Given the description of an element on the screen output the (x, y) to click on. 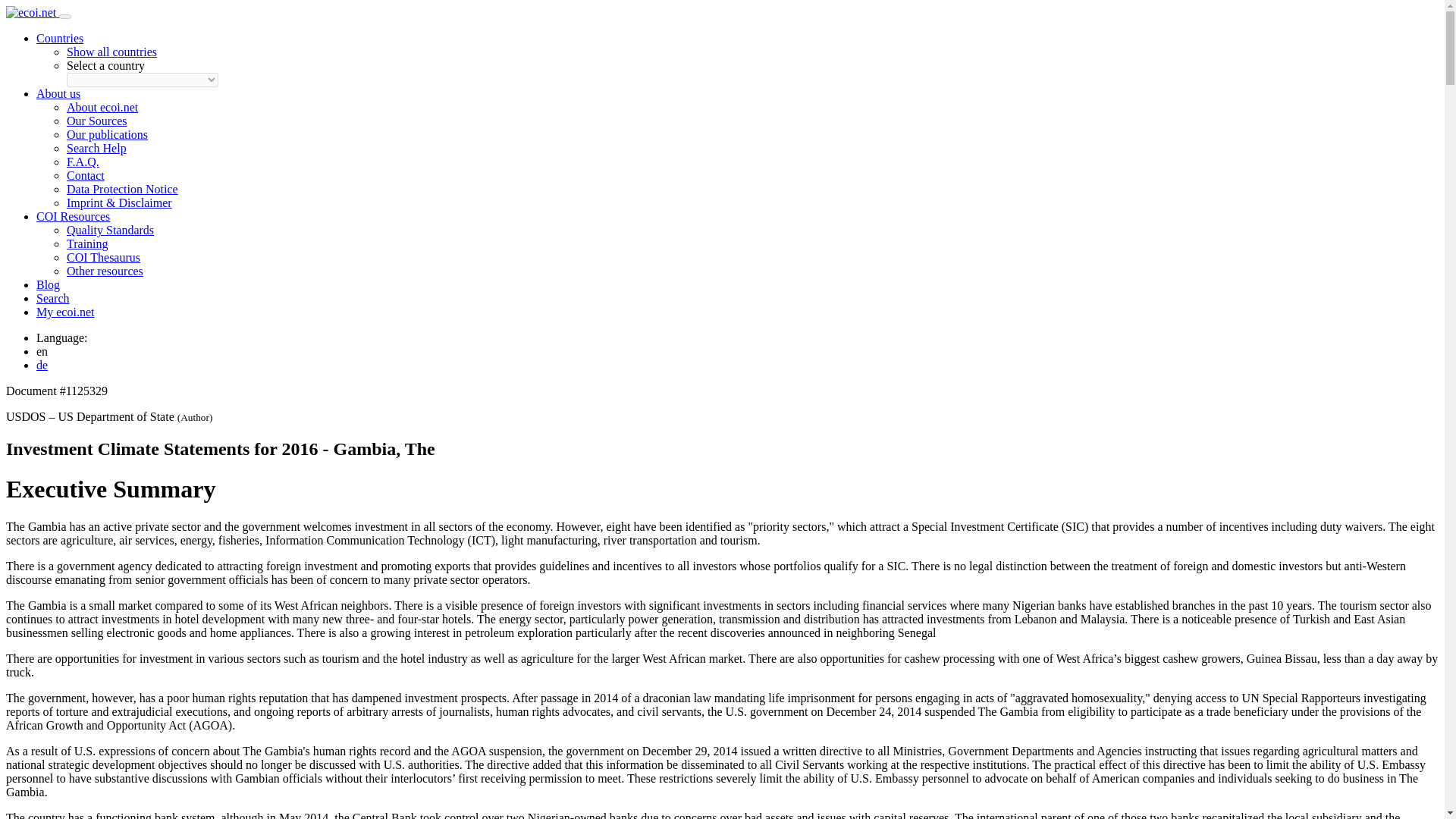
About us (58, 92)
F.A.Q. (82, 161)
Go to ecoi.net homepage (32, 11)
Data Protection Notice (121, 188)
Show all countries (111, 51)
Our publications (107, 133)
Our Sources (97, 120)
About ecoi.net (102, 106)
Countries (59, 38)
Training (86, 243)
COI Resources (73, 215)
COI Thesaurus (102, 256)
Quality Standards (110, 229)
de (42, 364)
German (42, 364)
